Given the description of an element on the screen output the (x, y) to click on. 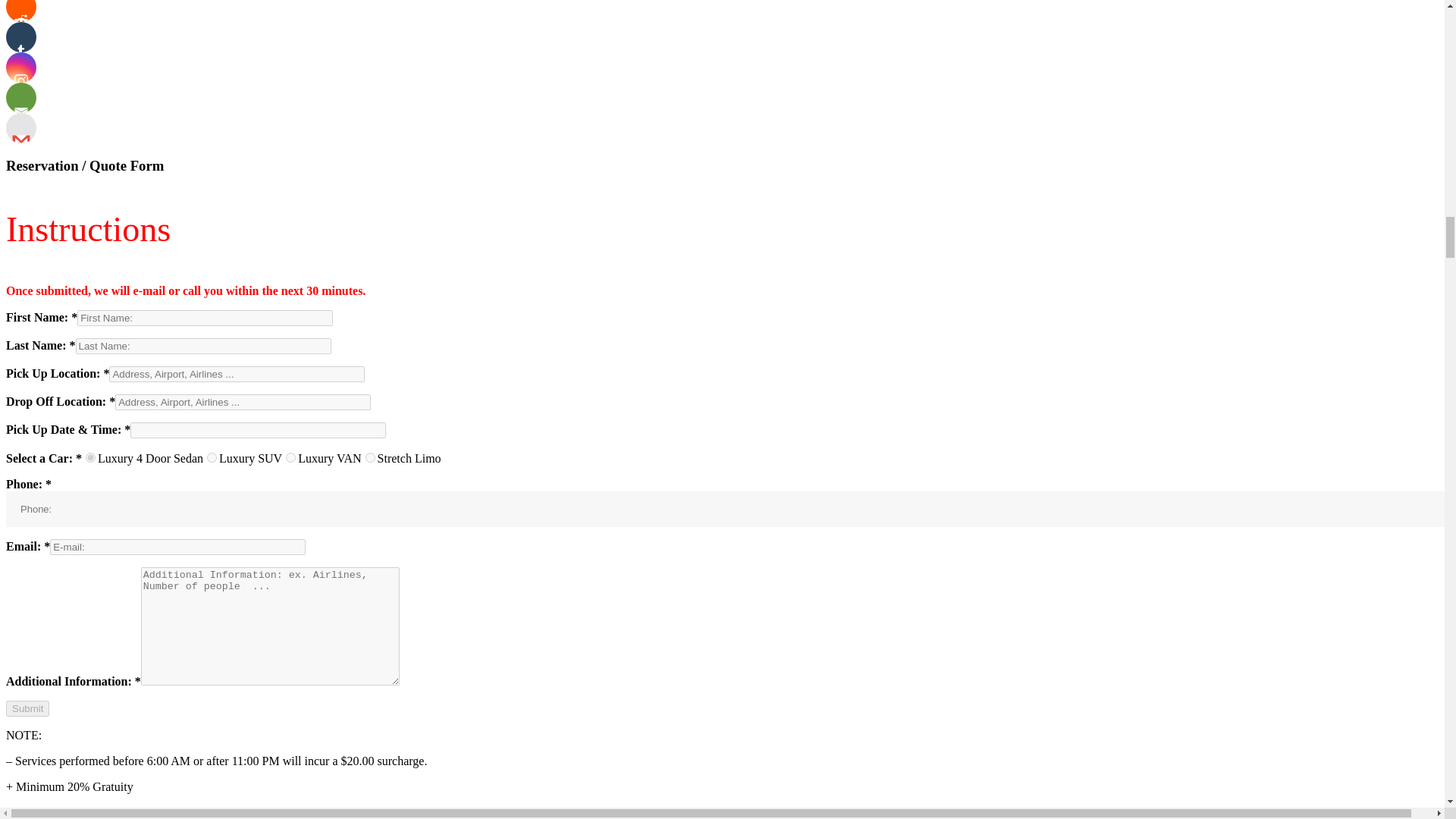
Stretch Limo (370, 457)
Email (20, 97)
Tumblr (20, 37)
Reddit (20, 11)
Luxury SUV (211, 457)
Submit (27, 708)
Luxury VAN (290, 457)
Instagram (20, 67)
Luxury 4 Door Sedan (90, 457)
Google Gmail (20, 128)
